Given the description of an element on the screen output the (x, y) to click on. 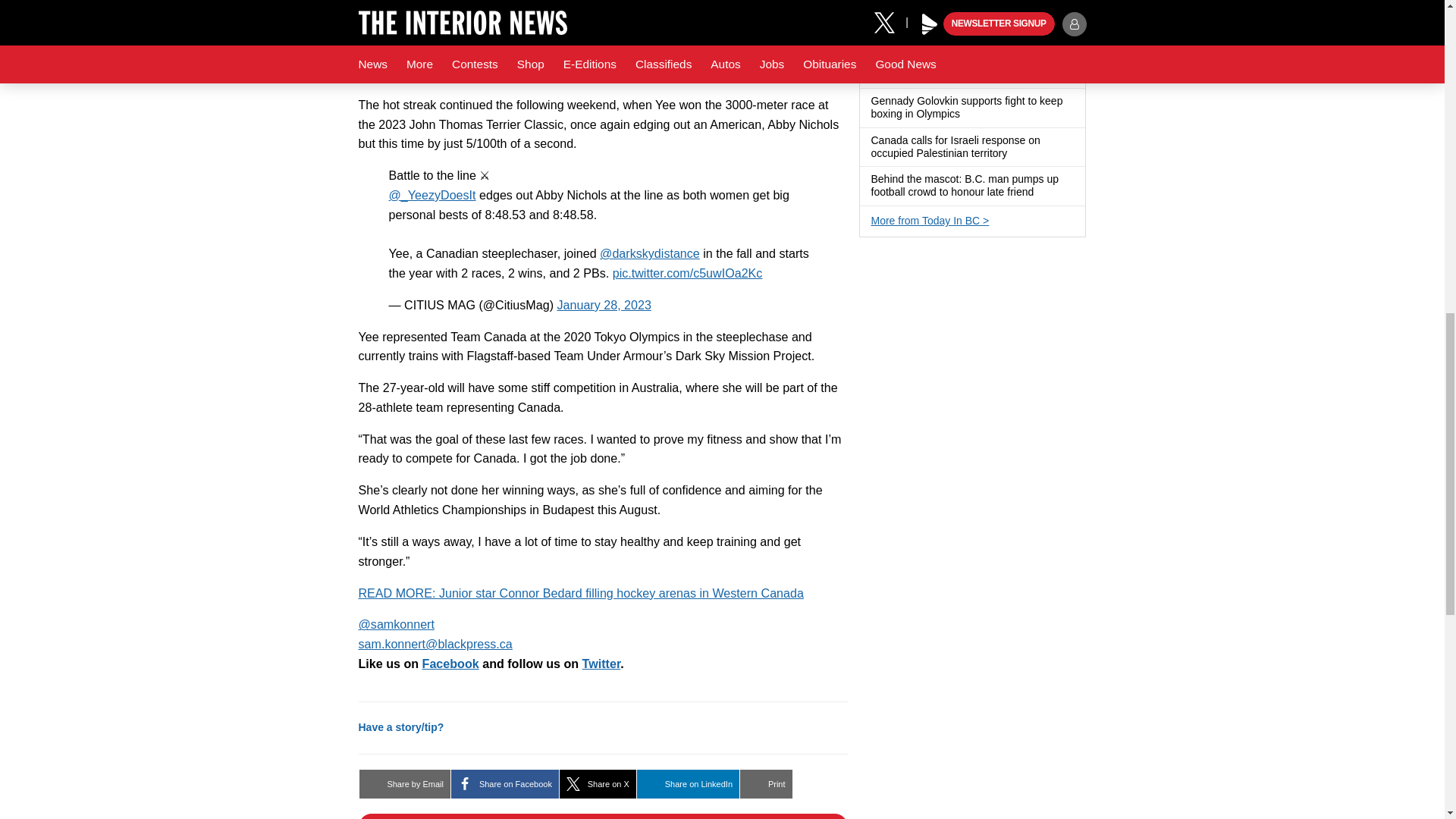
Has a gallery (1042, 192)
